Given the description of an element on the screen output the (x, y) to click on. 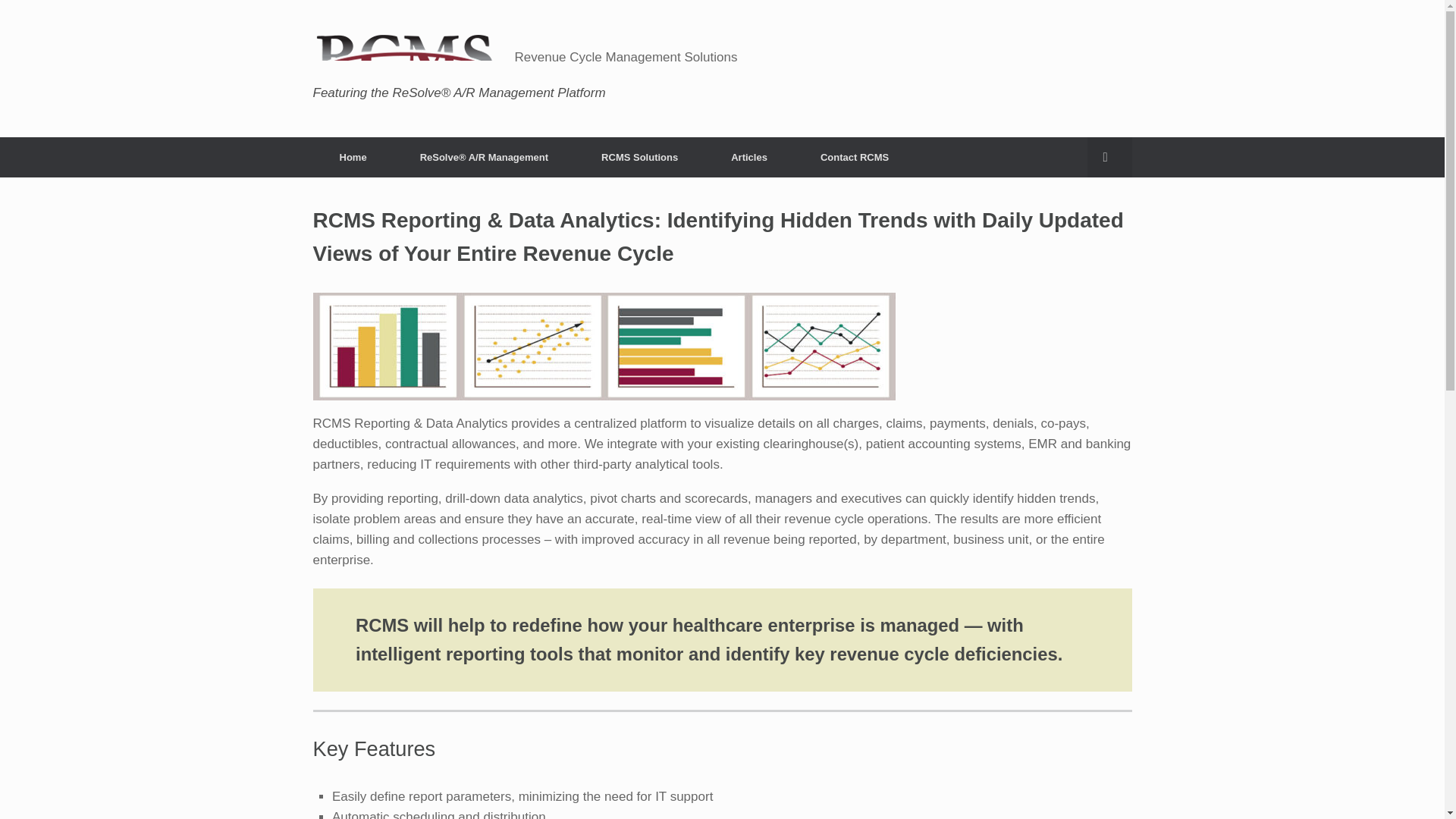
Articles (748, 156)
Revenue Cycle Management Solutions (524, 56)
Contact RCMS (854, 156)
RCMS Solutions (639, 156)
Revenue Cycle Management Solutions (524, 56)
Home (353, 156)
